Given the description of an element on the screen output the (x, y) to click on. 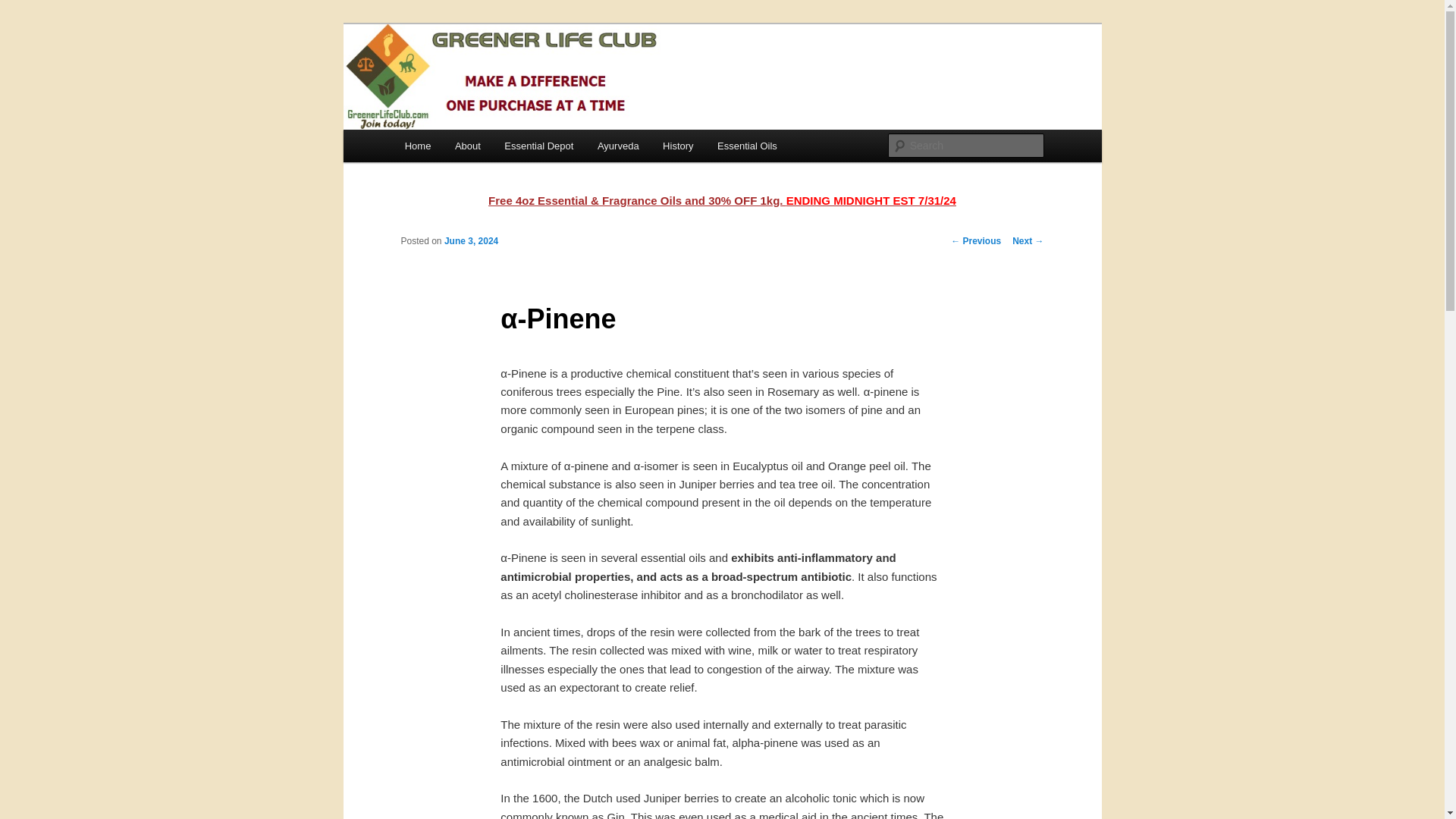
Ayurveda (617, 145)
Essential Depot (539, 145)
Essential Oil (468, 78)
About (467, 145)
Essential Oils (746, 145)
10:12 pm (470, 240)
Search (24, 8)
History (677, 145)
Home (417, 145)
June 3, 2024 (470, 240)
